Given the description of an element on the screen output the (x, y) to click on. 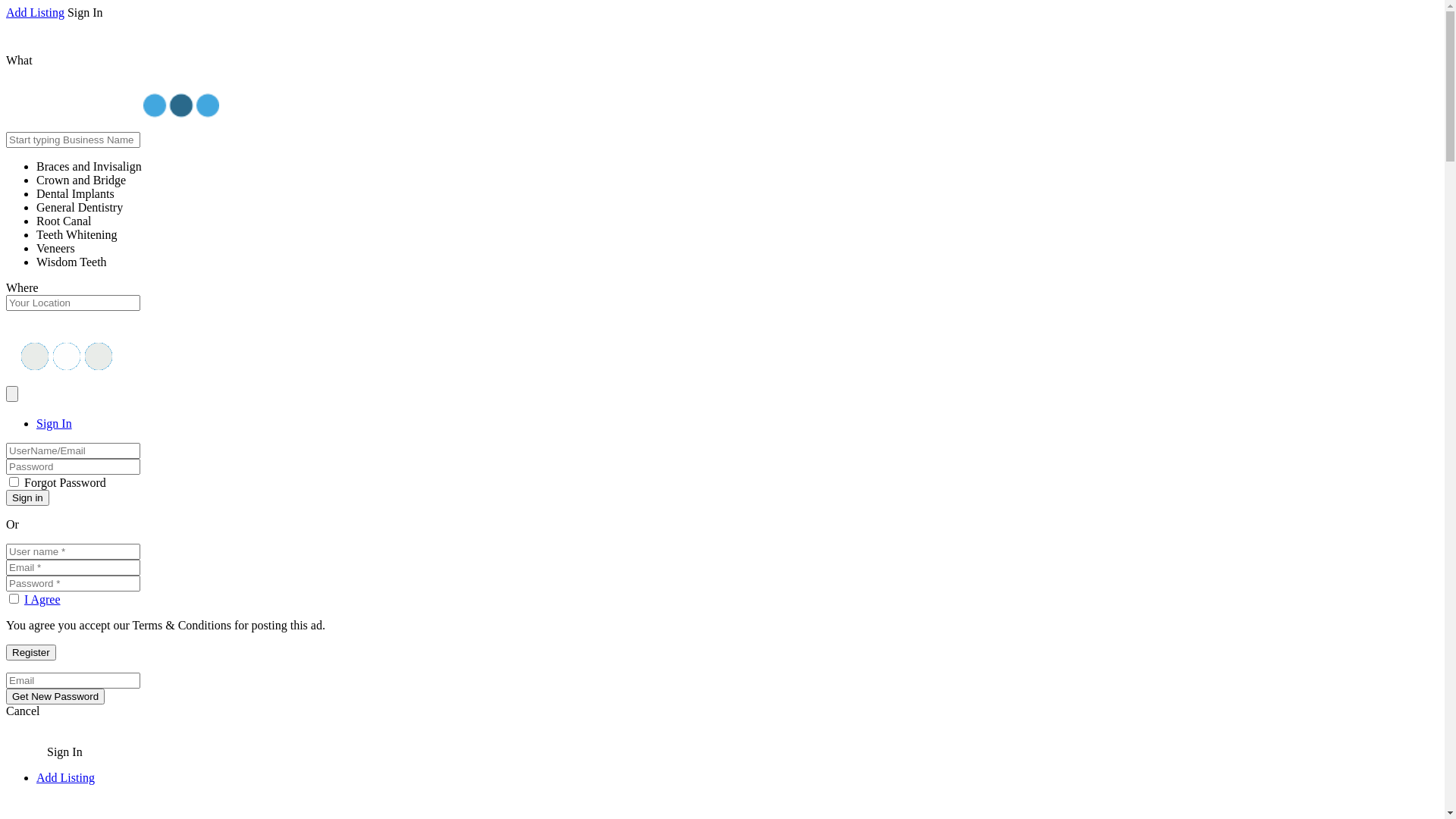
Register Element type: text (31, 652)
I Agree Element type: text (42, 599)
Forgot Password Element type: text (65, 482)
Cancel Element type: text (22, 710)
Get New Password Element type: text (55, 696)
Sign In Element type: text (54, 423)
Sign In Element type: text (64, 751)
Sign In Element type: text (85, 12)
Add Listing Element type: text (65, 777)
Add Listing Element type: text (35, 12)
Sign in Element type: text (27, 497)
